Given the description of an element on the screen output the (x, y) to click on. 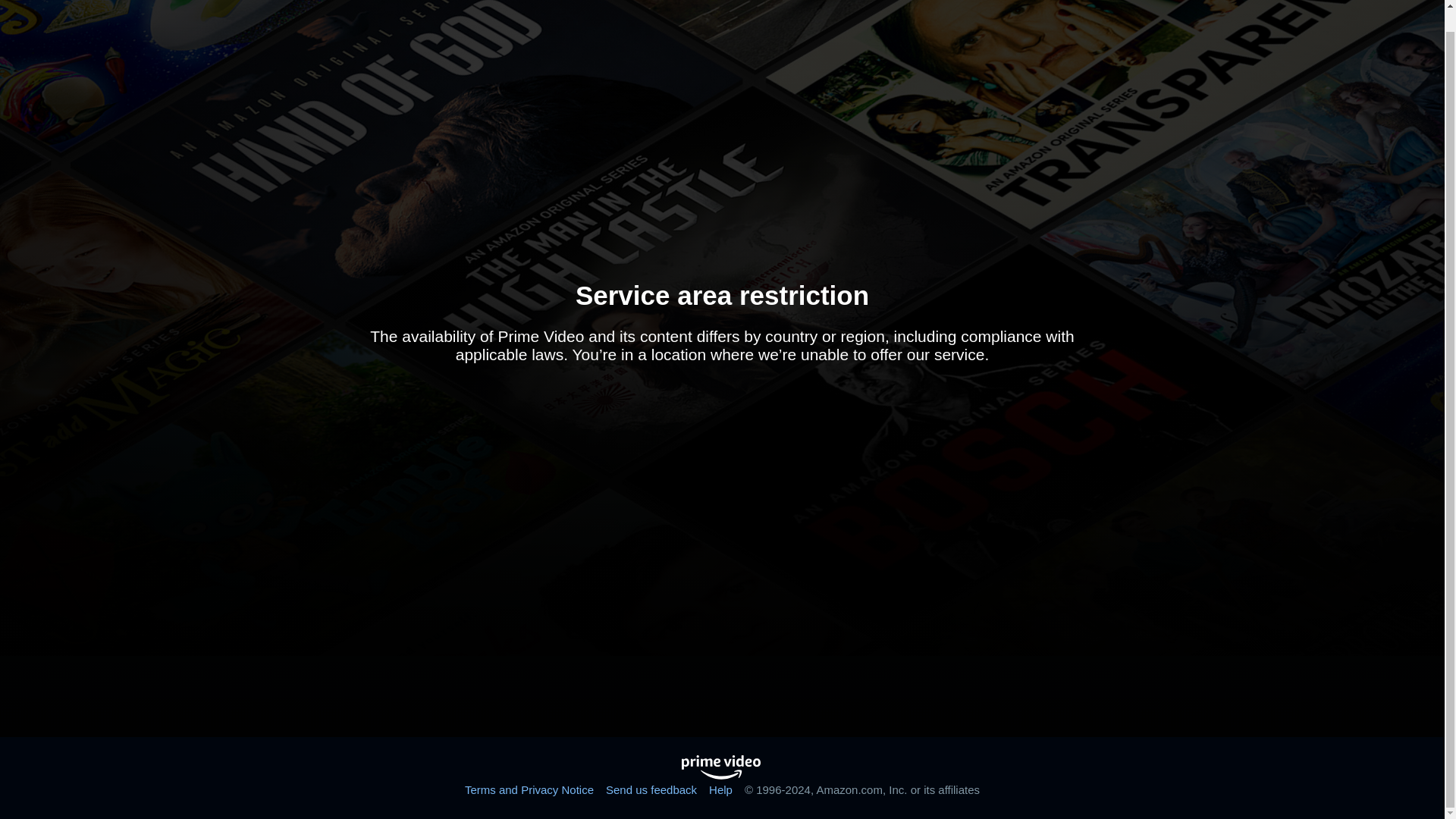
Send us feedback (651, 789)
Help (720, 789)
Terms and Privacy Notice (529, 789)
